Given the description of an element on the screen output the (x, y) to click on. 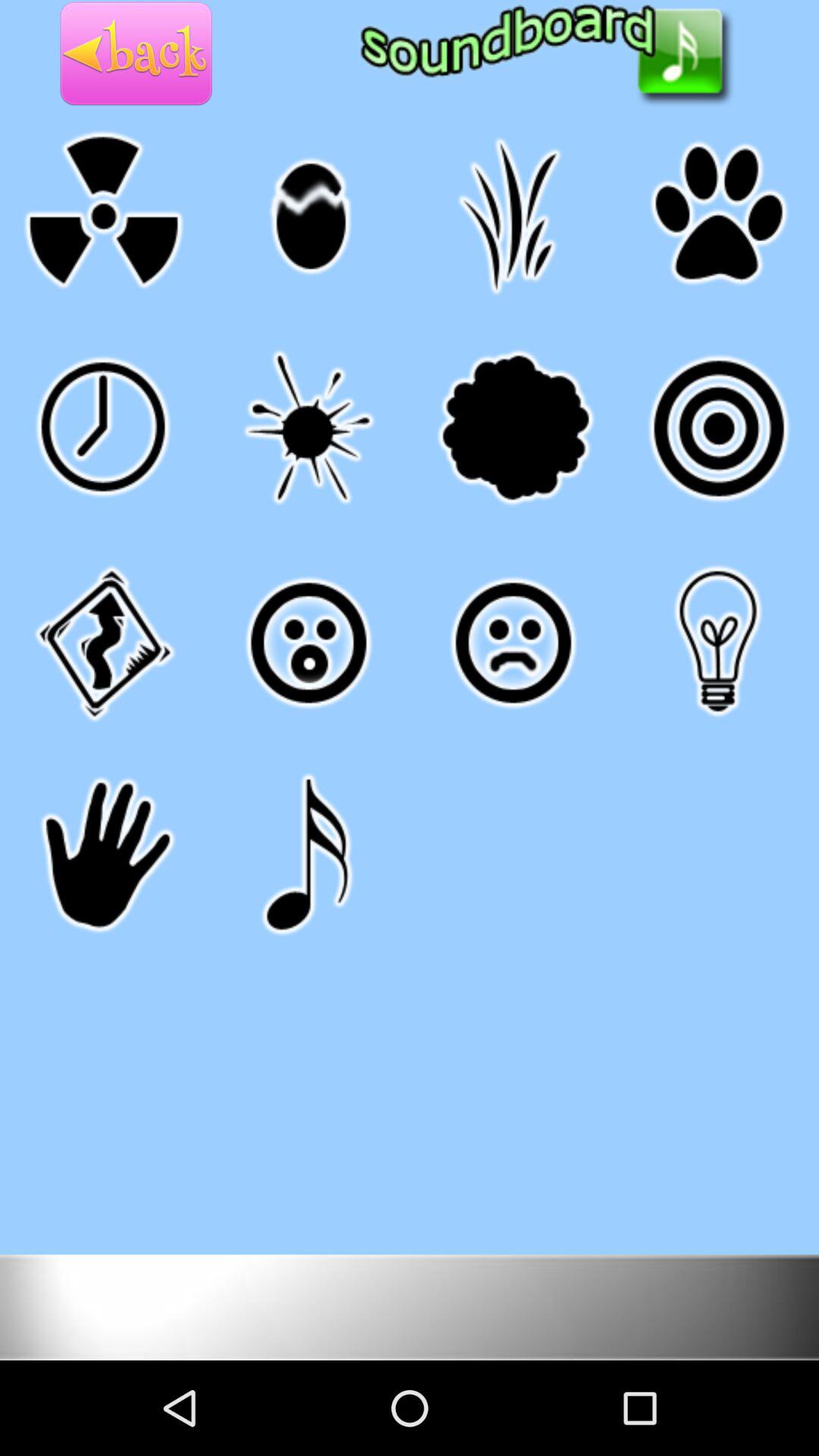
click to display app (409, 1306)
